Given the description of an element on the screen output the (x, y) to click on. 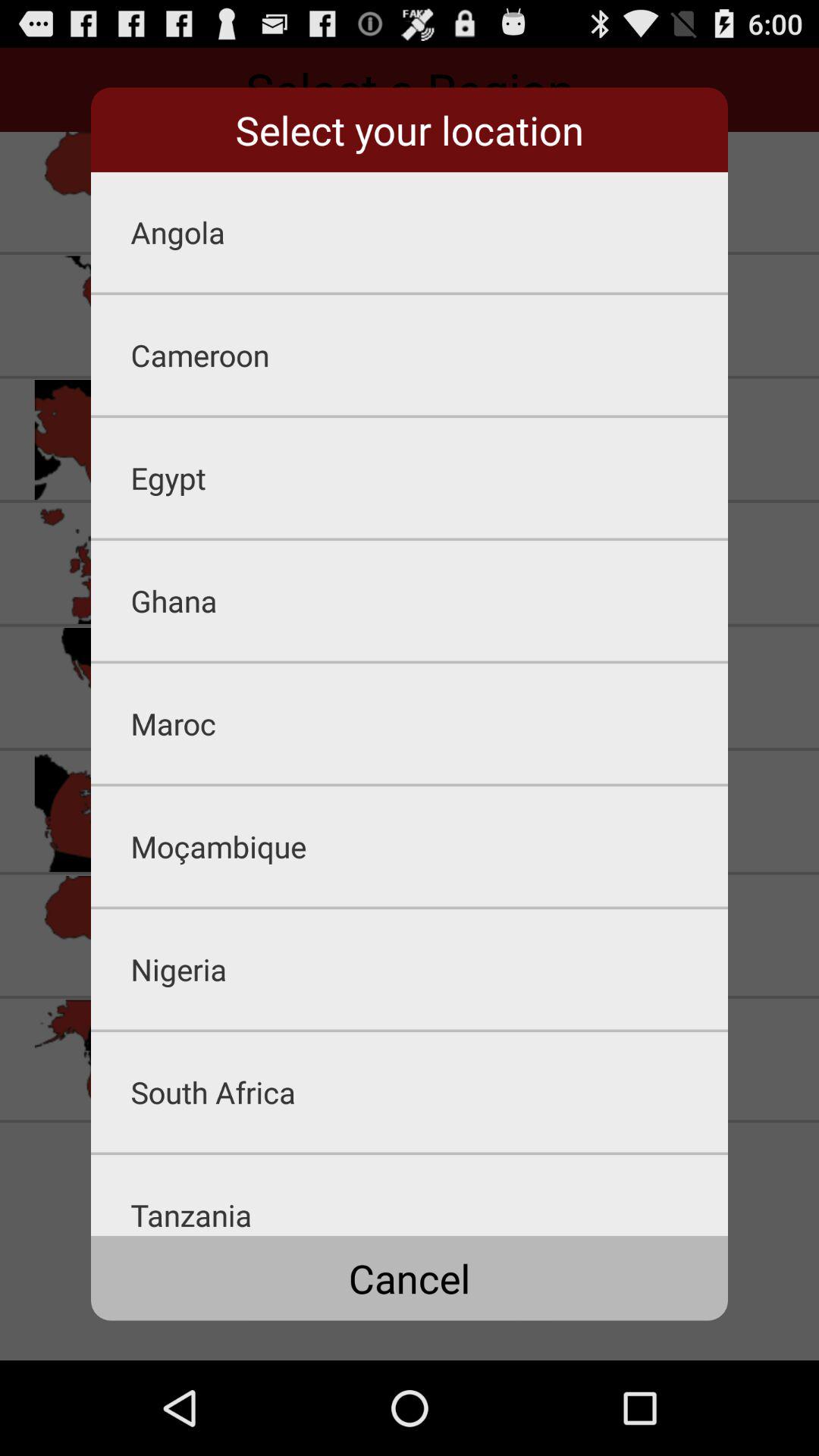
scroll to cancel app (409, 1277)
